Given the description of an element on the screen output the (x, y) to click on. 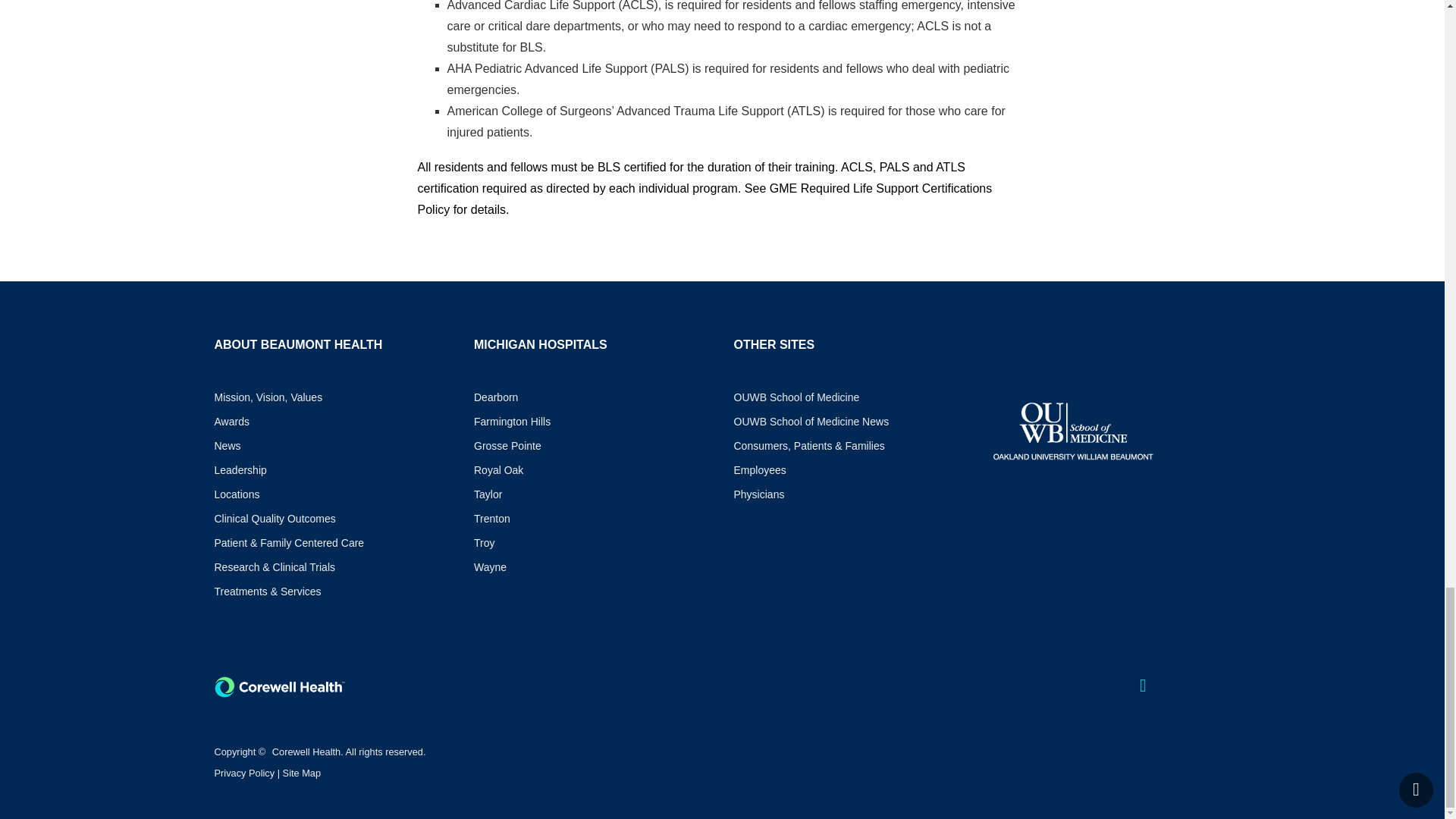
Mission, Vision, Values (332, 396)
Leadership (332, 469)
Locations (332, 494)
Clinical Quality Outcomes (332, 518)
Dearborn (592, 396)
News (332, 445)
Grosse Pointe (592, 445)
OUWB (1072, 429)
Farmington Hills (592, 421)
HouseCall Podcast  (1212, 687)
Awards (332, 421)
Back to home page (278, 686)
Instagram  (1177, 687)
